Given the description of an element on the screen output the (x, y) to click on. 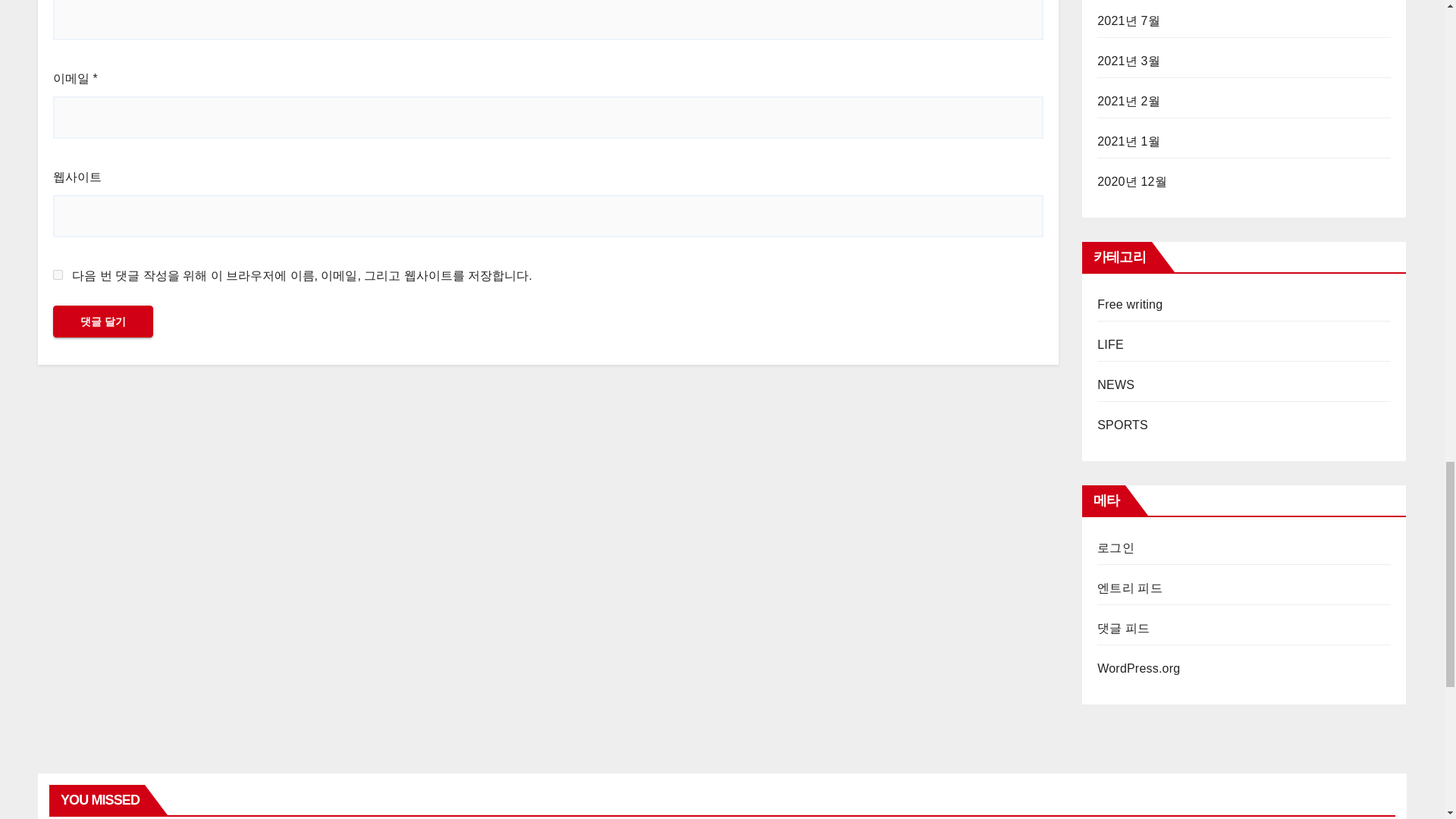
yes (57, 275)
